Given the description of an element on the screen output the (x, y) to click on. 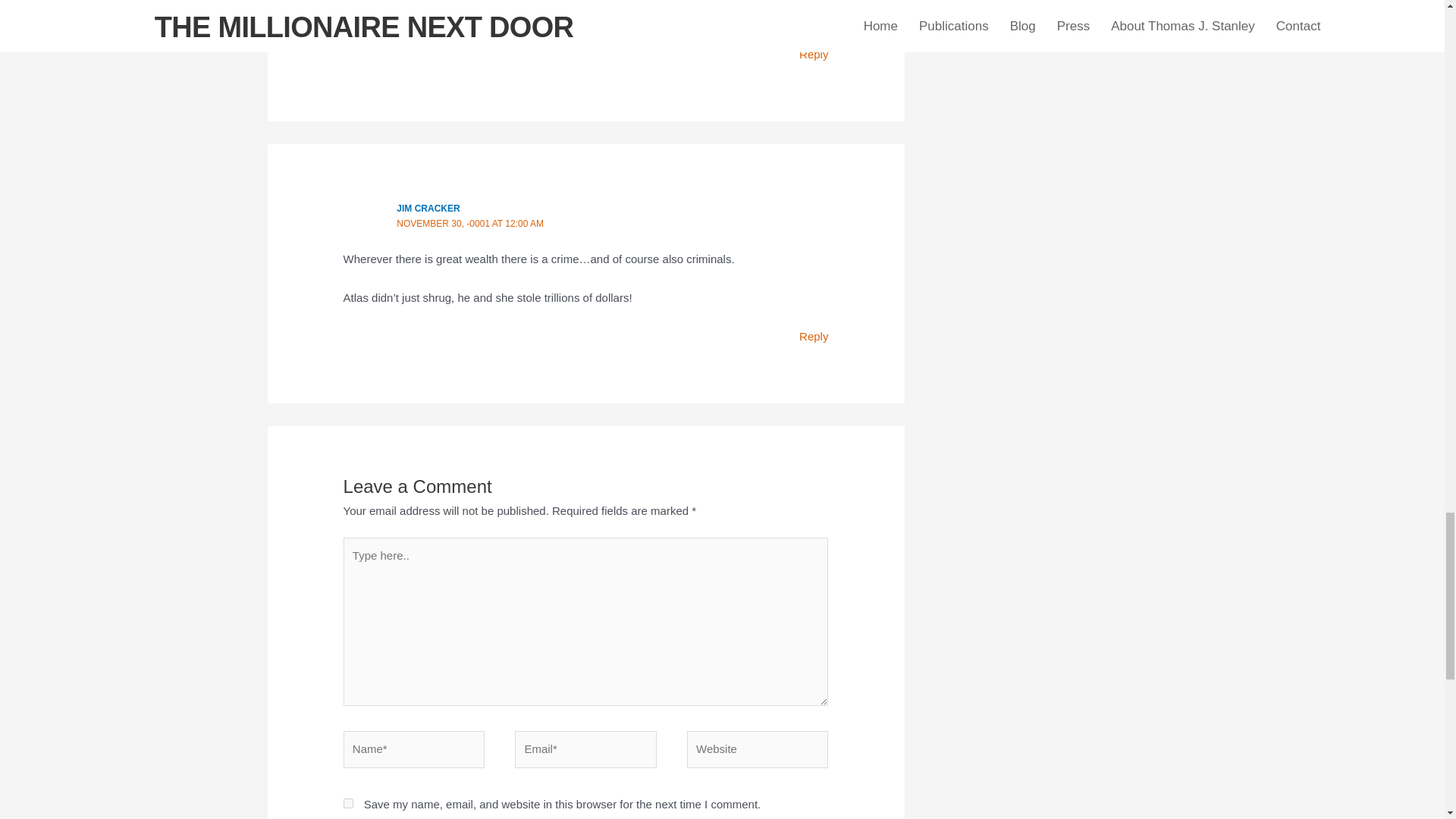
yes (348, 803)
Reply (813, 53)
Reply (813, 336)
NOVEMBER 30, -0001 AT 12:00 AM (469, 223)
